Given the description of an element on the screen output the (x, y) to click on. 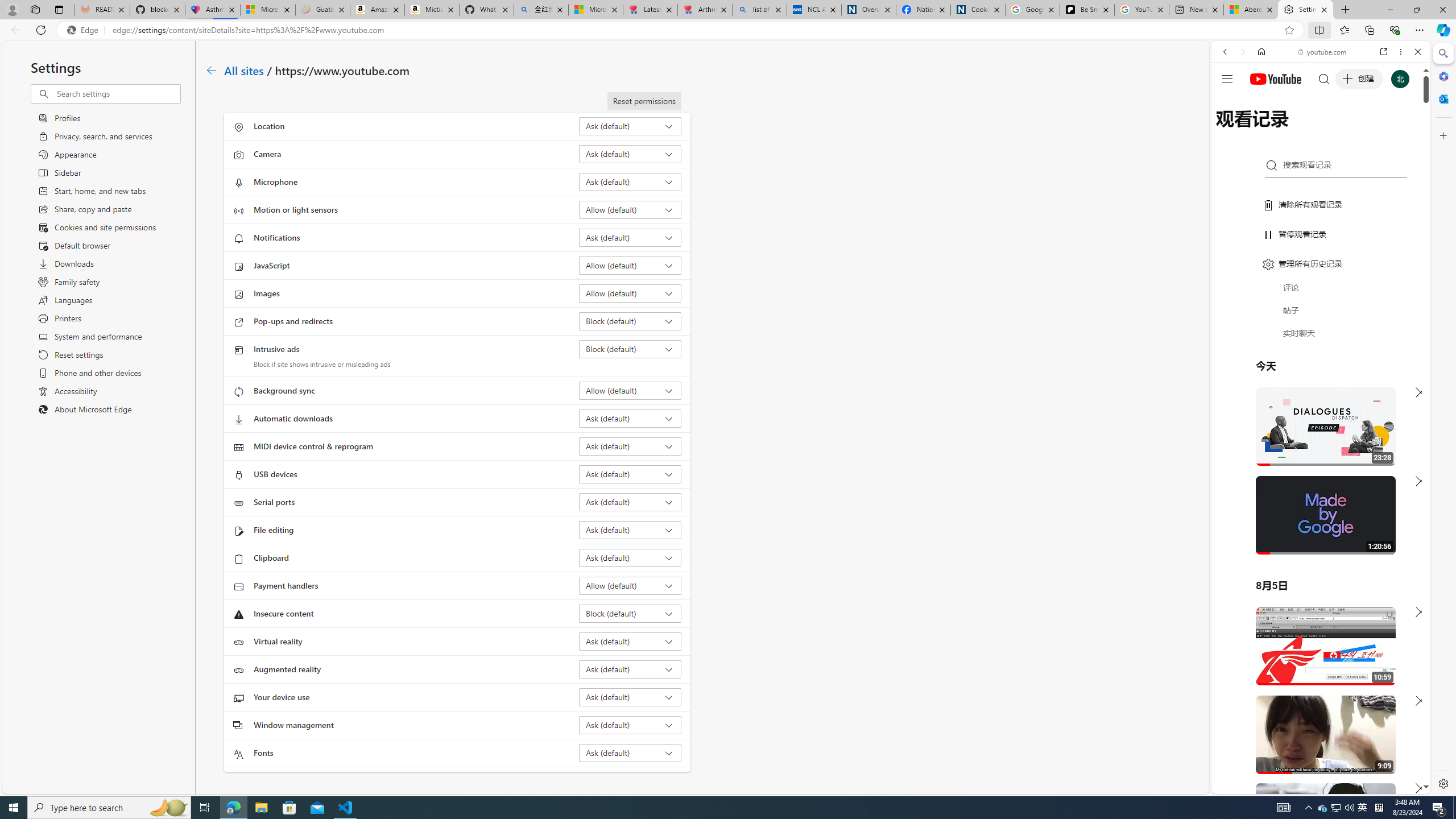
File editing Ask (default) (630, 529)
SEARCH TOOLS (1350, 130)
